Given the description of an element on the screen output the (x, y) to click on. 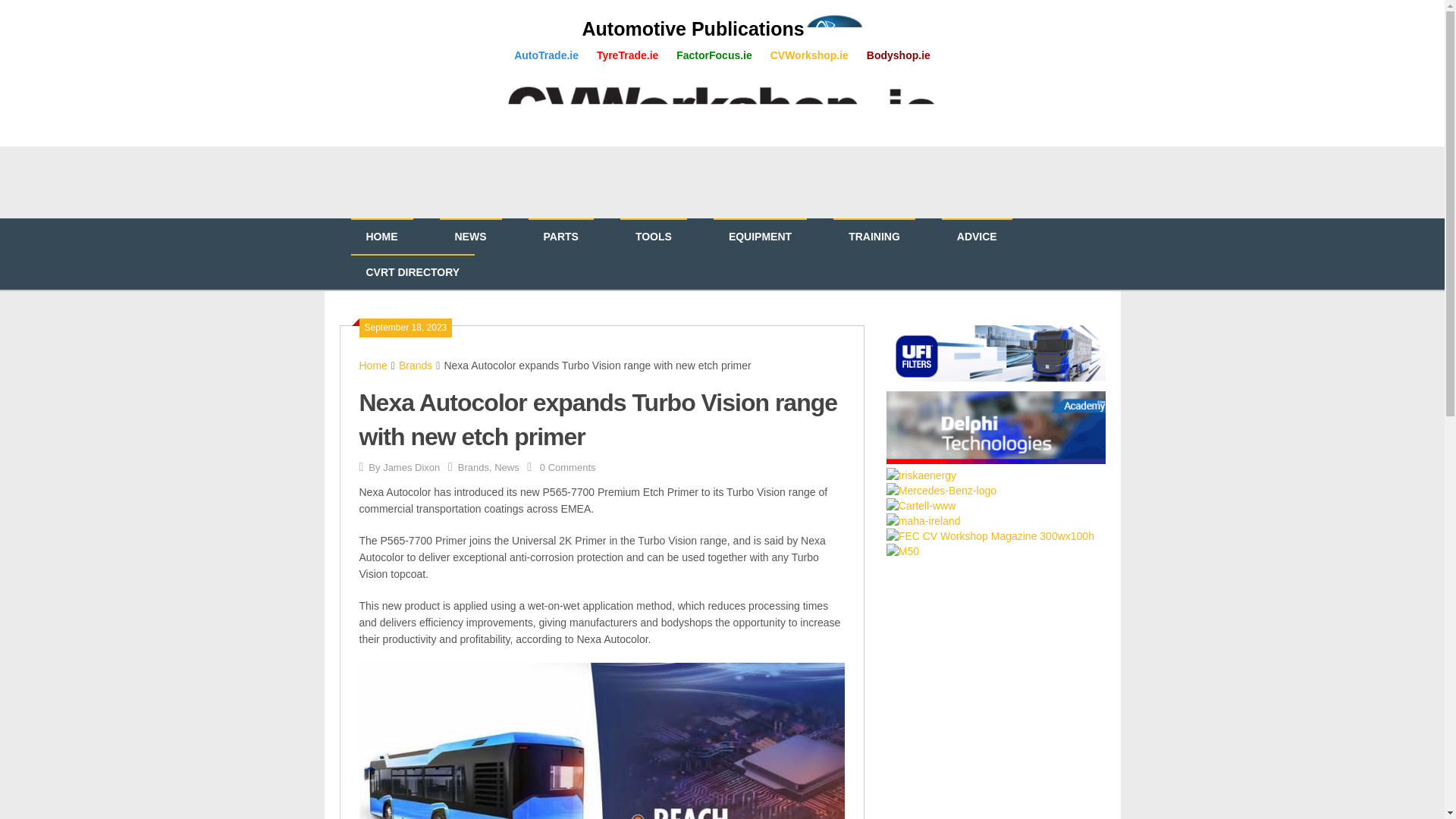
Cartell-www (920, 505)
M50 (902, 551)
triskaenergy (921, 475)
Home (373, 365)
James Dixon (410, 467)
NEWS (470, 236)
ADVICE (976, 236)
News (507, 467)
techntools (995, 427)
PARTS (559, 236)
